Given the description of an element on the screen output the (x, y) to click on. 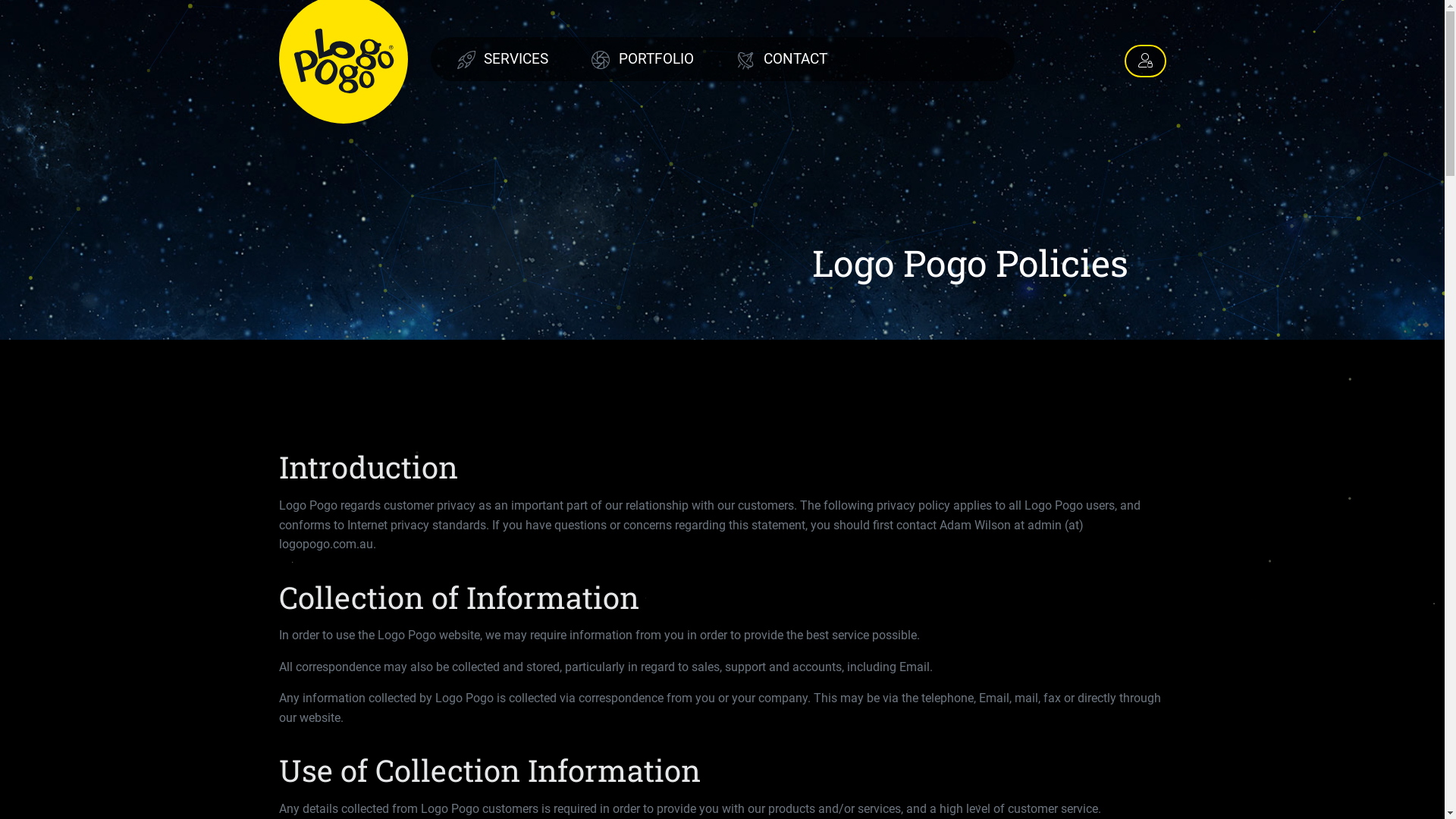
PORTFOLIO Element type: text (642, 58)
CONTACT Element type: text (782, 58)
Return home... Element type: hover (343, 57)
SERVICES Element type: text (502, 58)
